Given the description of an element on the screen output the (x, y) to click on. 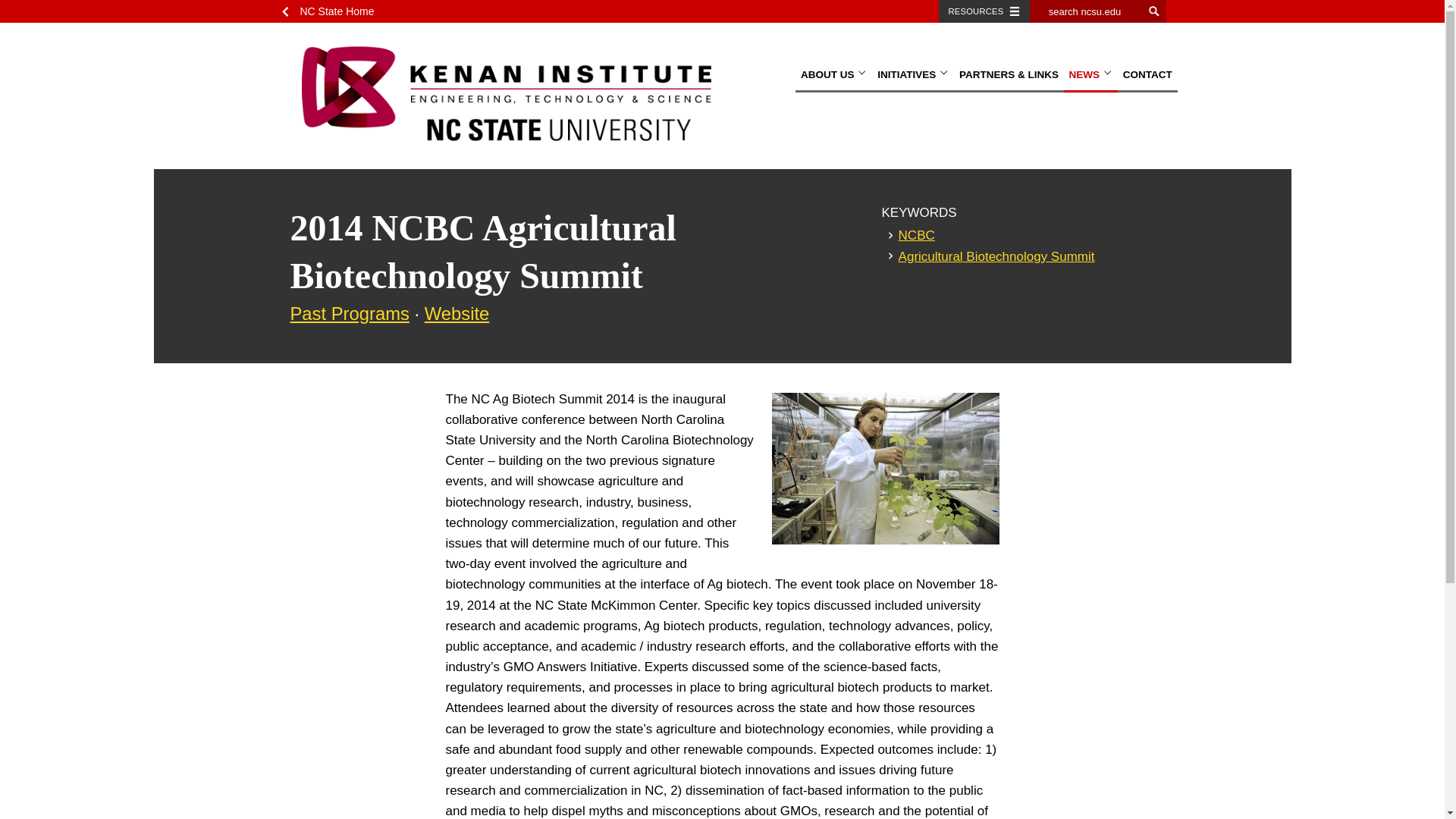
INITIATIVES (912, 75)
ABOUT US (833, 75)
search (1154, 11)
search (1154, 11)
search (1154, 11)
RESOURCES (984, 11)
NC State Home (332, 11)
